Given the description of an element on the screen output the (x, y) to click on. 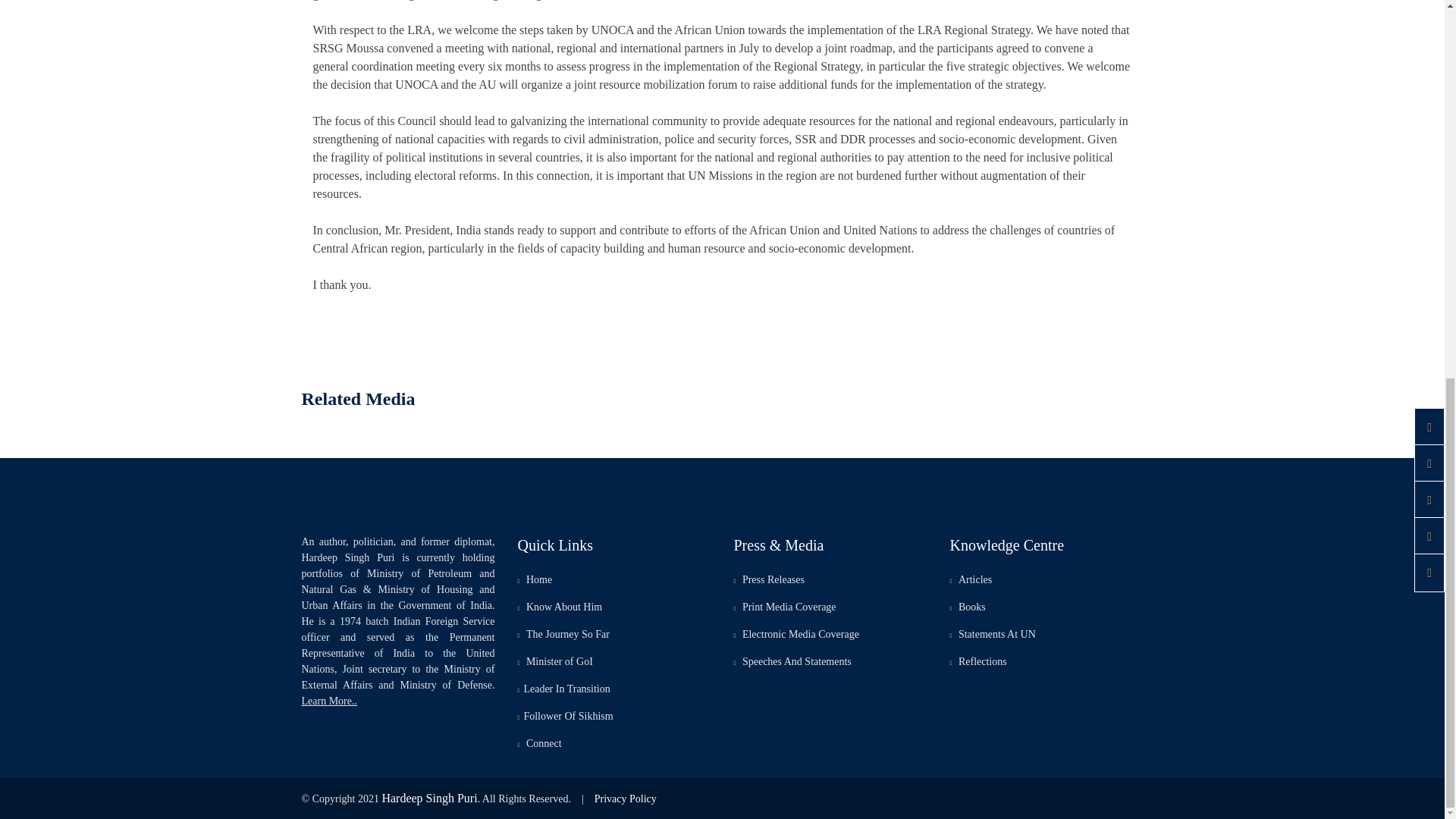
Minister of GoI (554, 661)
Home (533, 579)
Know About Him (559, 606)
The Journey So Far (562, 634)
Learn More.. (328, 700)
Leader In Transition (563, 688)
